Given the description of an element on the screen output the (x, y) to click on. 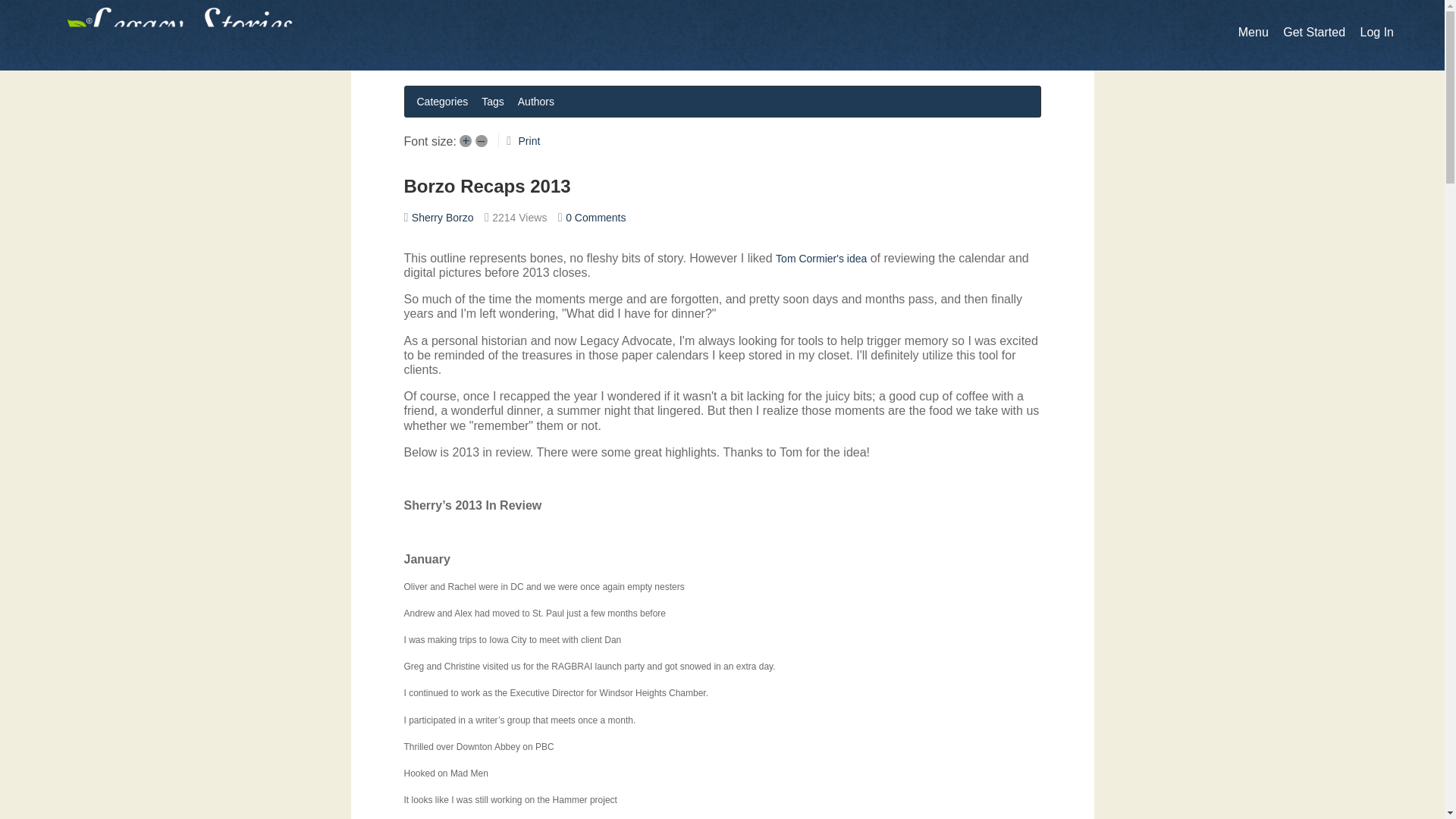
Print (529, 141)
Sherry Borzo (443, 217)
Print (529, 141)
Categories (442, 101)
Menu (1253, 31)
Authors (536, 101)
Tags (493, 101)
Get Started (1313, 31)
Log In (1376, 31)
